Given the description of an element on the screen output the (x, y) to click on. 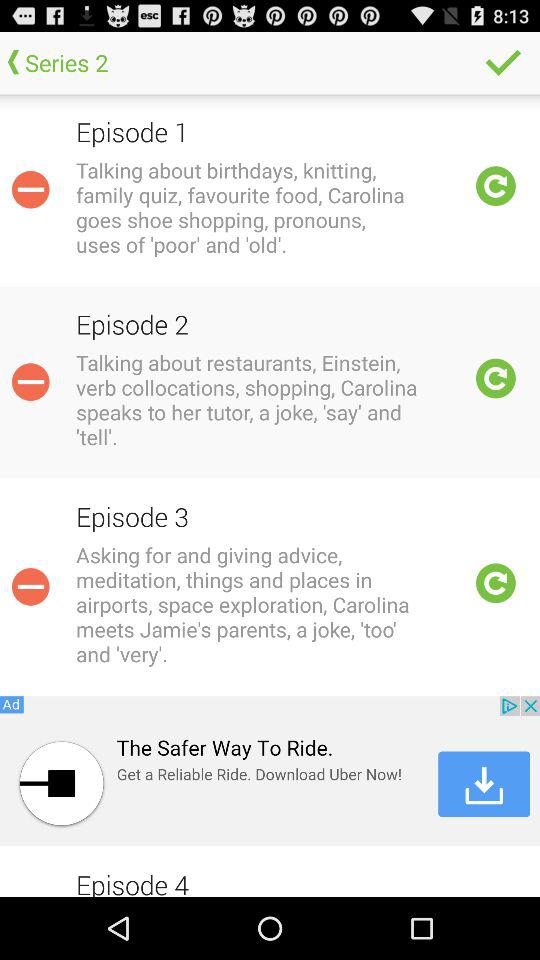
delete (30, 586)
